Given the description of an element on the screen output the (x, y) to click on. 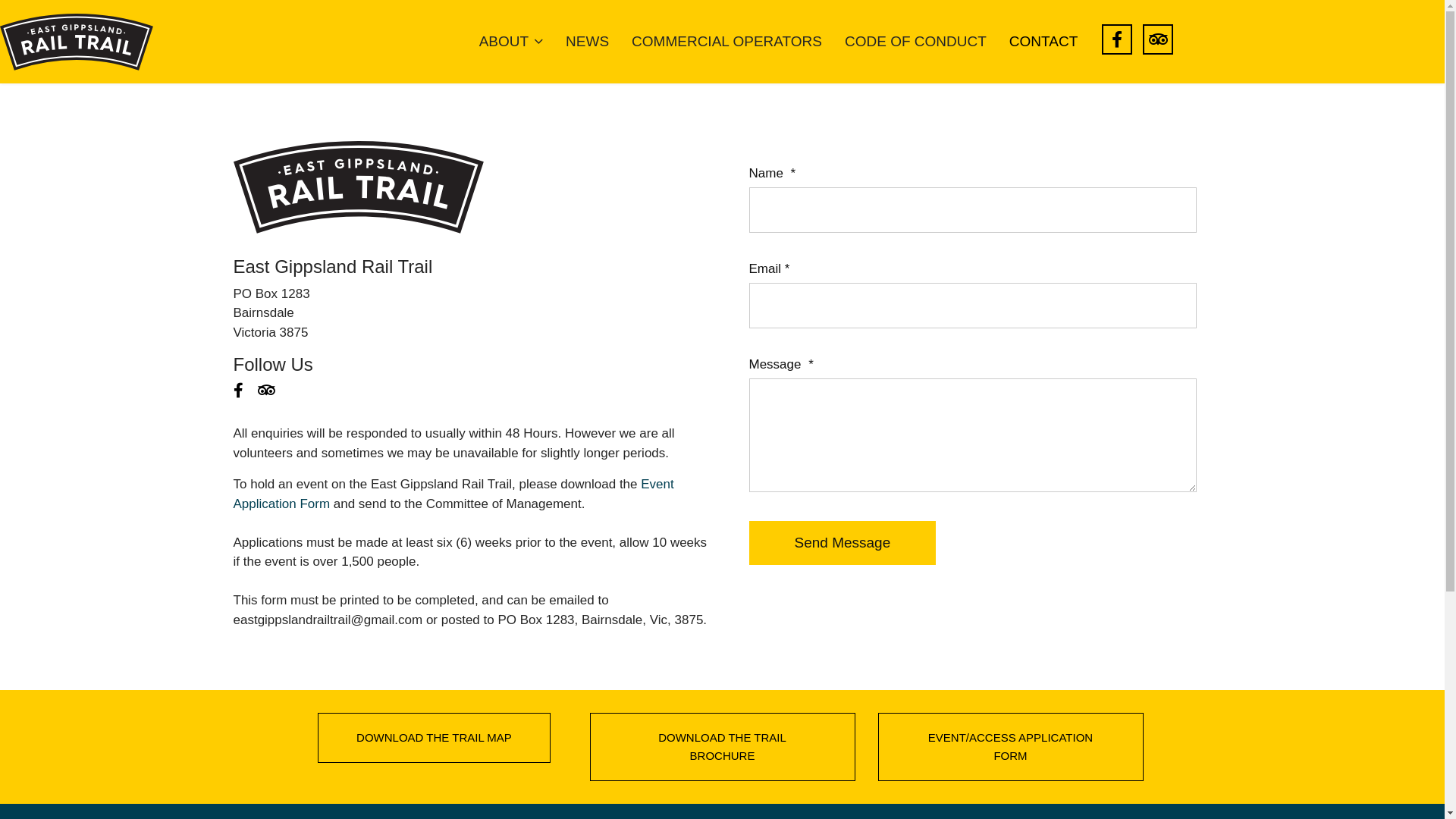
DOWNLOAD THE TRAIL BROCHURE Element type: text (722, 746)
Send Message Element type: text (842, 542)
NEWS Element type: text (587, 41)
COMMERCIAL OPERATORS Element type: text (726, 41)
CODE OF CONDUCT Element type: text (915, 41)
CONTACT Element type: text (1042, 41)
ABOUT Element type: text (510, 41)
Event Application Form Element type: text (453, 493)
EVENT/ACCESS APPLICATION FORM Element type: text (1010, 746)
DOWNLOAD THE TRAIL MAP Element type: text (433, 737)
